Given the description of an element on the screen output the (x, y) to click on. 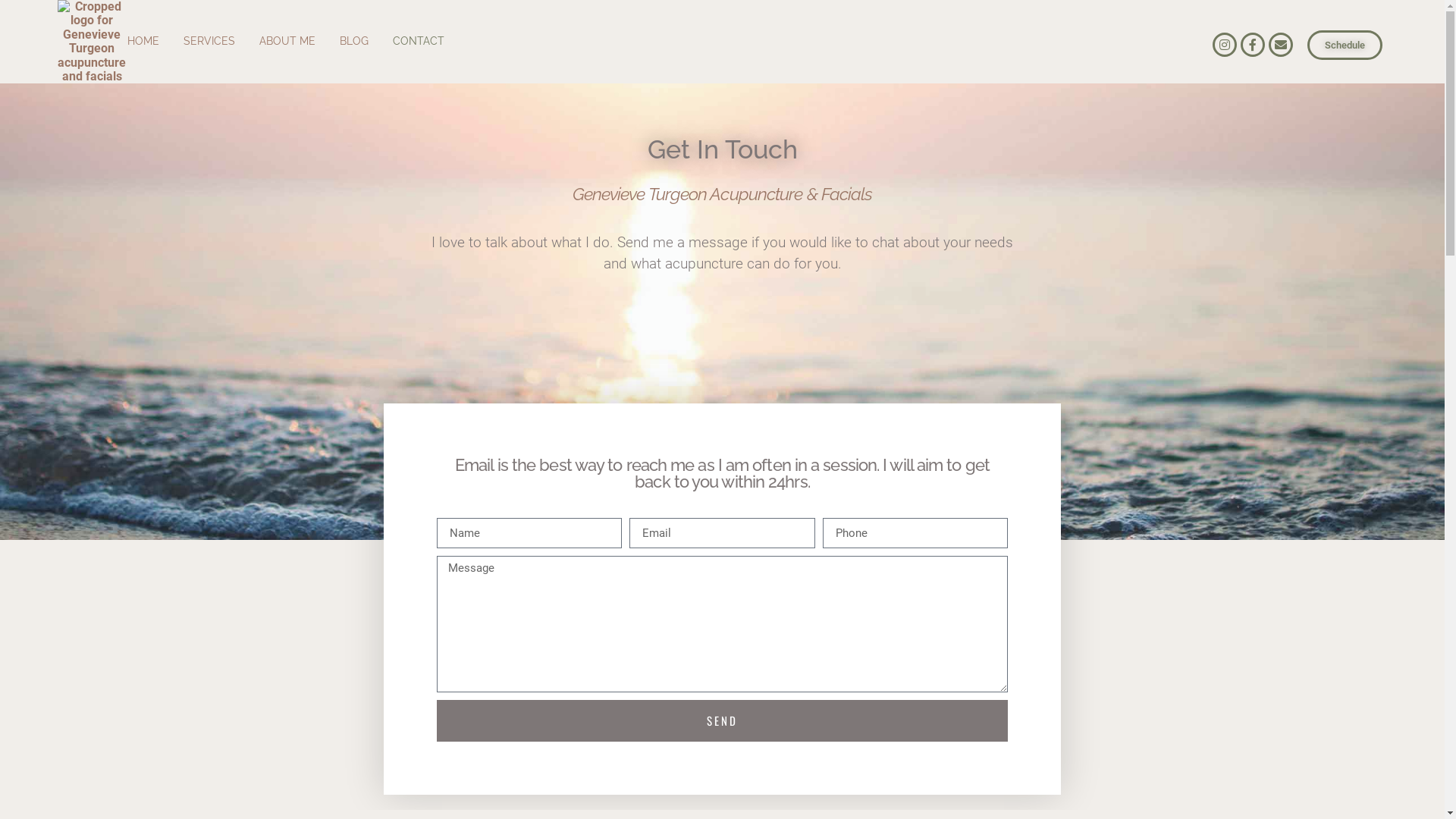
CONTACT Element type: text (418, 40)
HOME Element type: text (143, 40)
SEND Element type: text (721, 720)
SERVICES Element type: text (209, 40)
BLOG Element type: text (353, 40)
Schedule Element type: text (1344, 44)
Genevieve Turgeon Acupuncture and Facials Element type: hover (91, 41)
ABOUT ME Element type: text (287, 40)
